Given the description of an element on the screen output the (x, y) to click on. 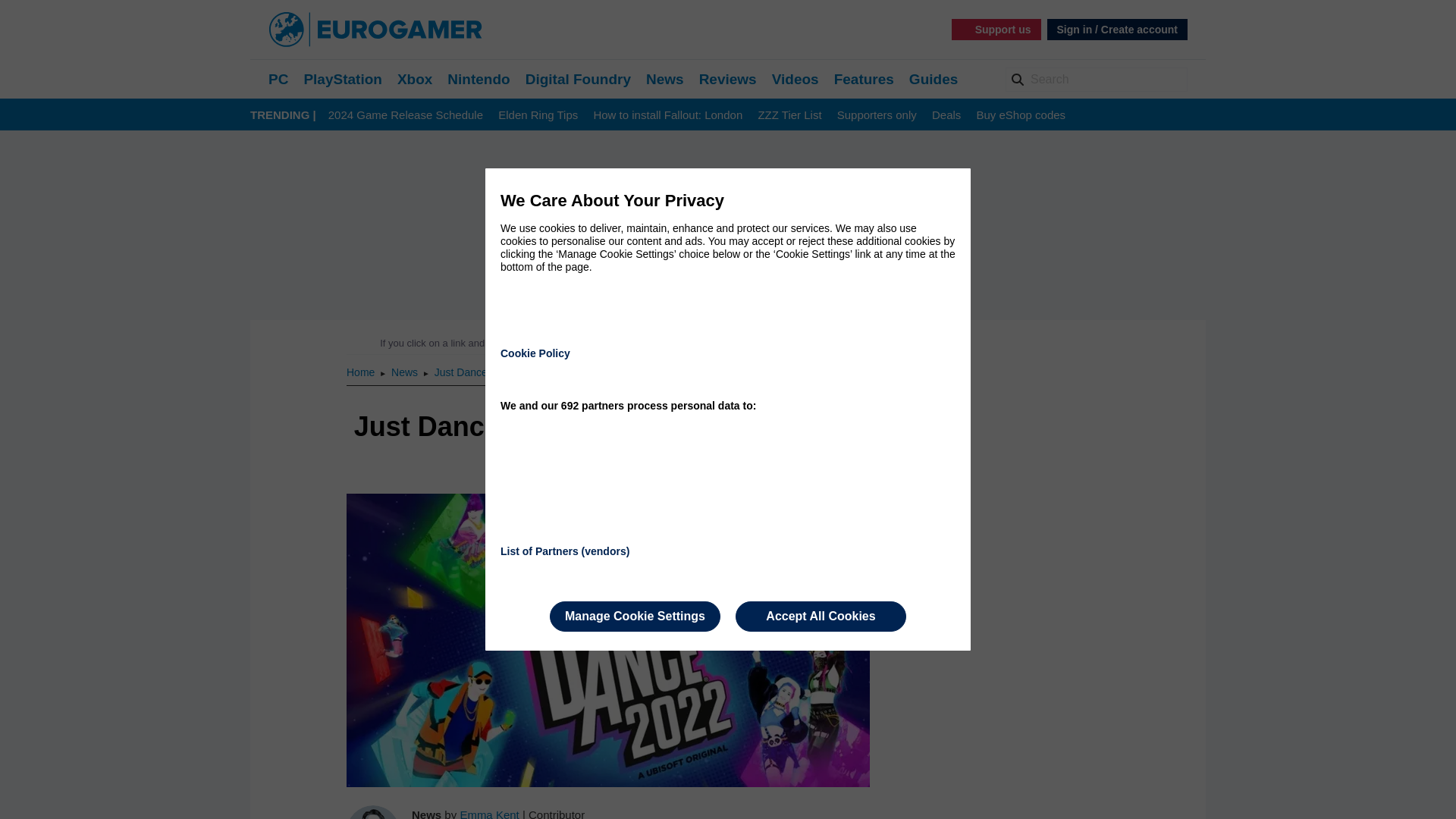
Digital Foundry (577, 78)
Supporters only (877, 114)
Xbox (414, 78)
News (405, 372)
Just Dance 2022 (473, 372)
Nintendo (477, 78)
News (665, 78)
PlayStation (341, 78)
Buy eShop codes (1020, 114)
Guides (933, 78)
ZZZ Tier List (789, 114)
Features (863, 78)
Videos (794, 78)
Support us (996, 29)
Features (863, 78)
